Given the description of an element on the screen output the (x, y) to click on. 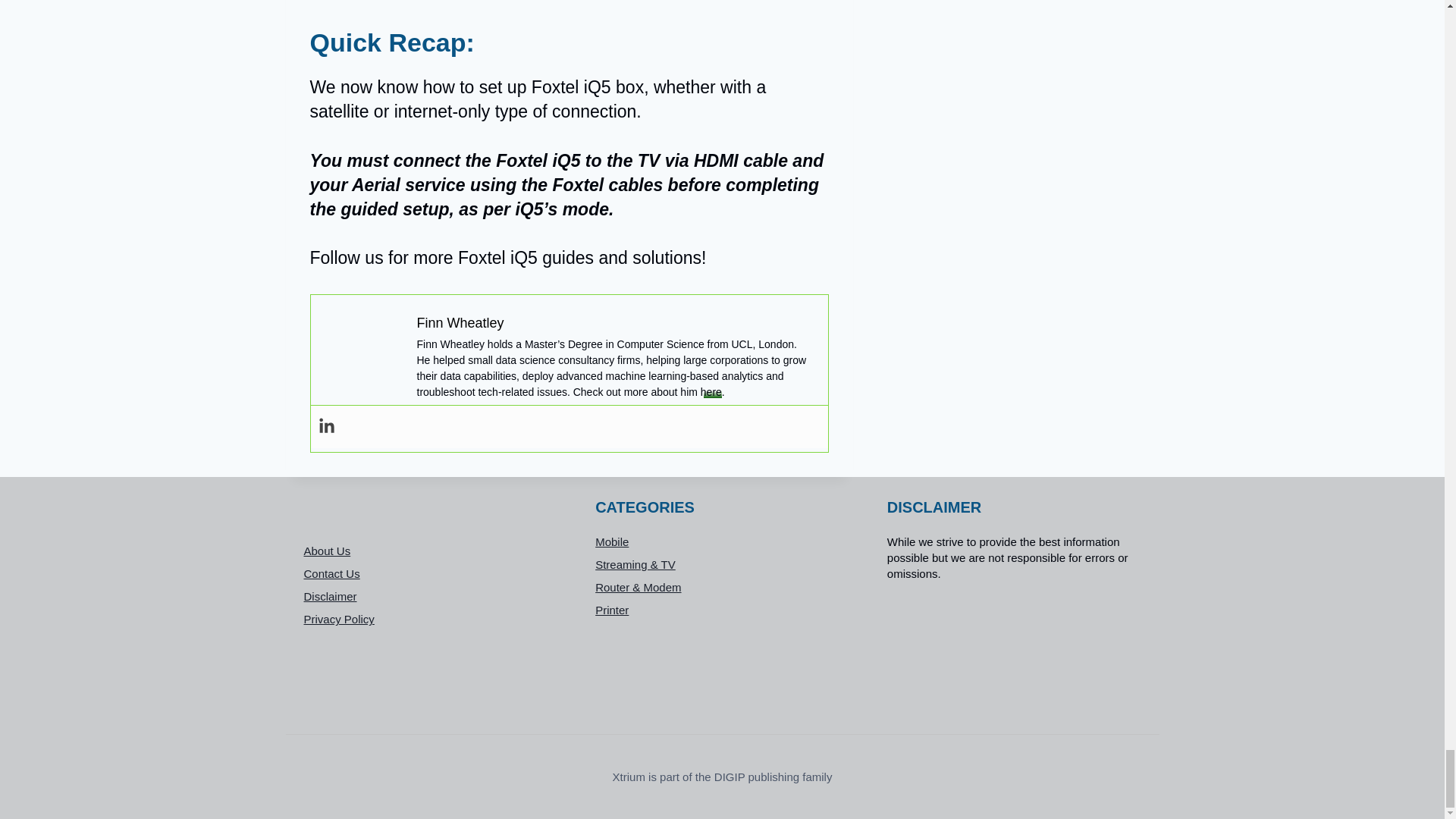
here (711, 391)
About Us (429, 550)
Printer (721, 609)
Disclaimer (429, 596)
Finn Wheatley (459, 322)
Mobile (721, 540)
Contact Us (429, 573)
Privacy Policy (429, 619)
